Given the description of an element on the screen output the (x, y) to click on. 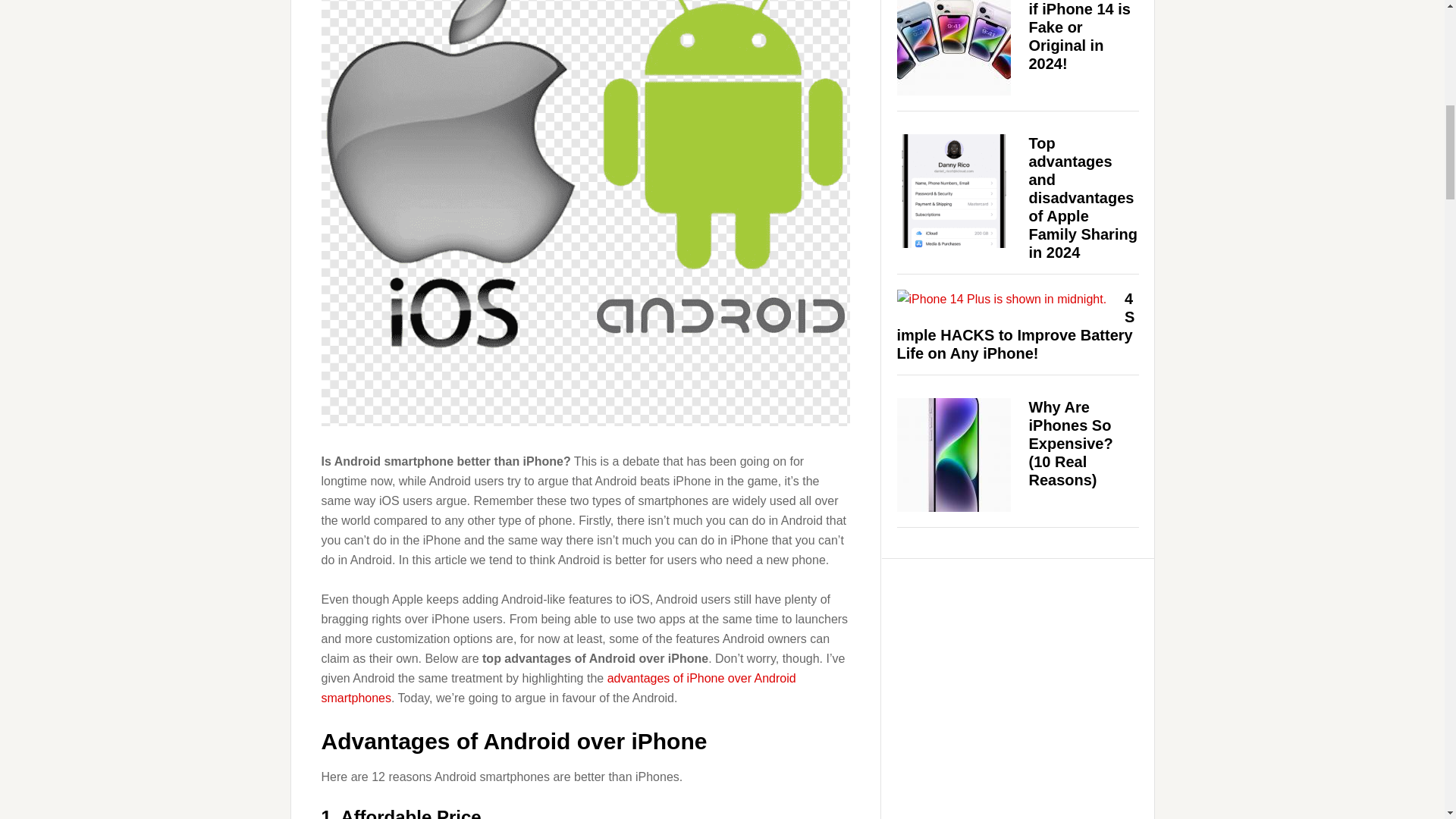
advantages of iPhone over Android smartphones (558, 687)
How To Check if iPhone 14 is Fake or Original in 2024! (1079, 36)
